Given the description of an element on the screen output the (x, y) to click on. 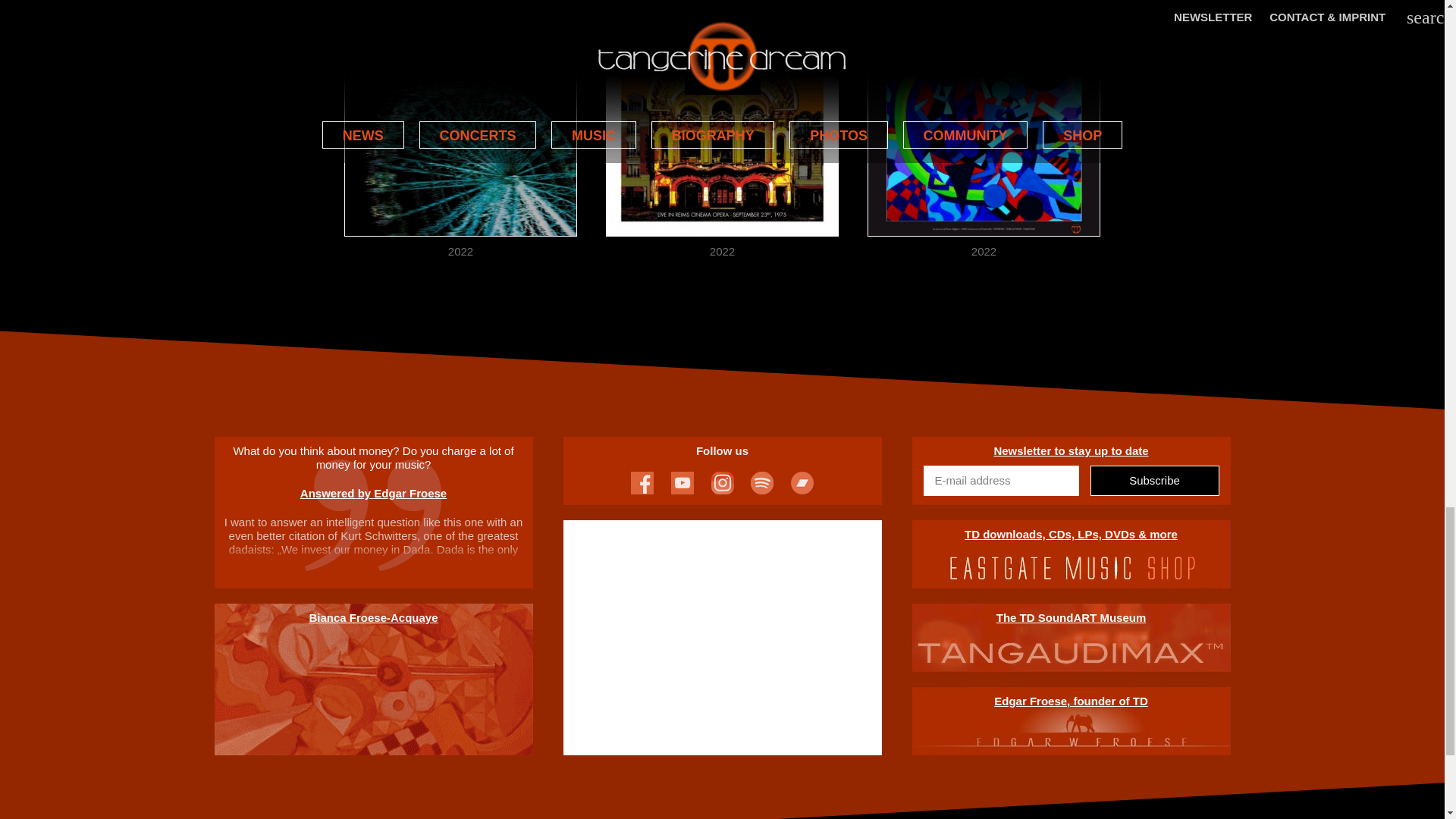
The Sessions Box Set (460, 119)
Live At Reims Cinema Opera 1975 (722, 119)
